Given the description of an element on the screen output the (x, y) to click on. 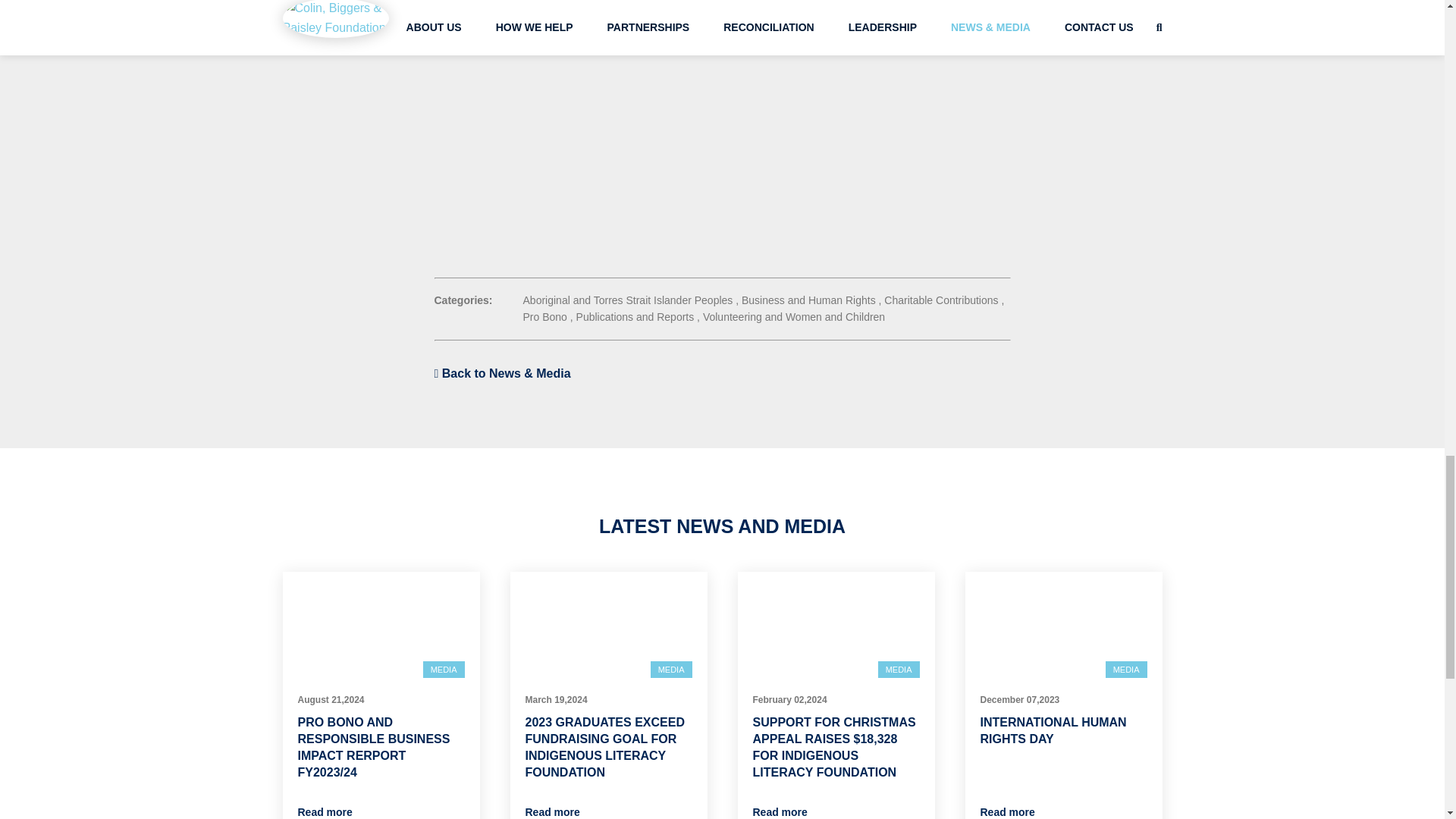
Pro Bono (544, 316)
Publications and Reports (635, 316)
Charitable Contributions (940, 300)
Read more (551, 811)
Women and Children (835, 316)
Business and Human Rights (808, 300)
Aboriginal and Torres Strait Islander Peoples (627, 300)
Volunteering (732, 316)
Read more (324, 811)
